Given the description of an element on the screen output the (x, y) to click on. 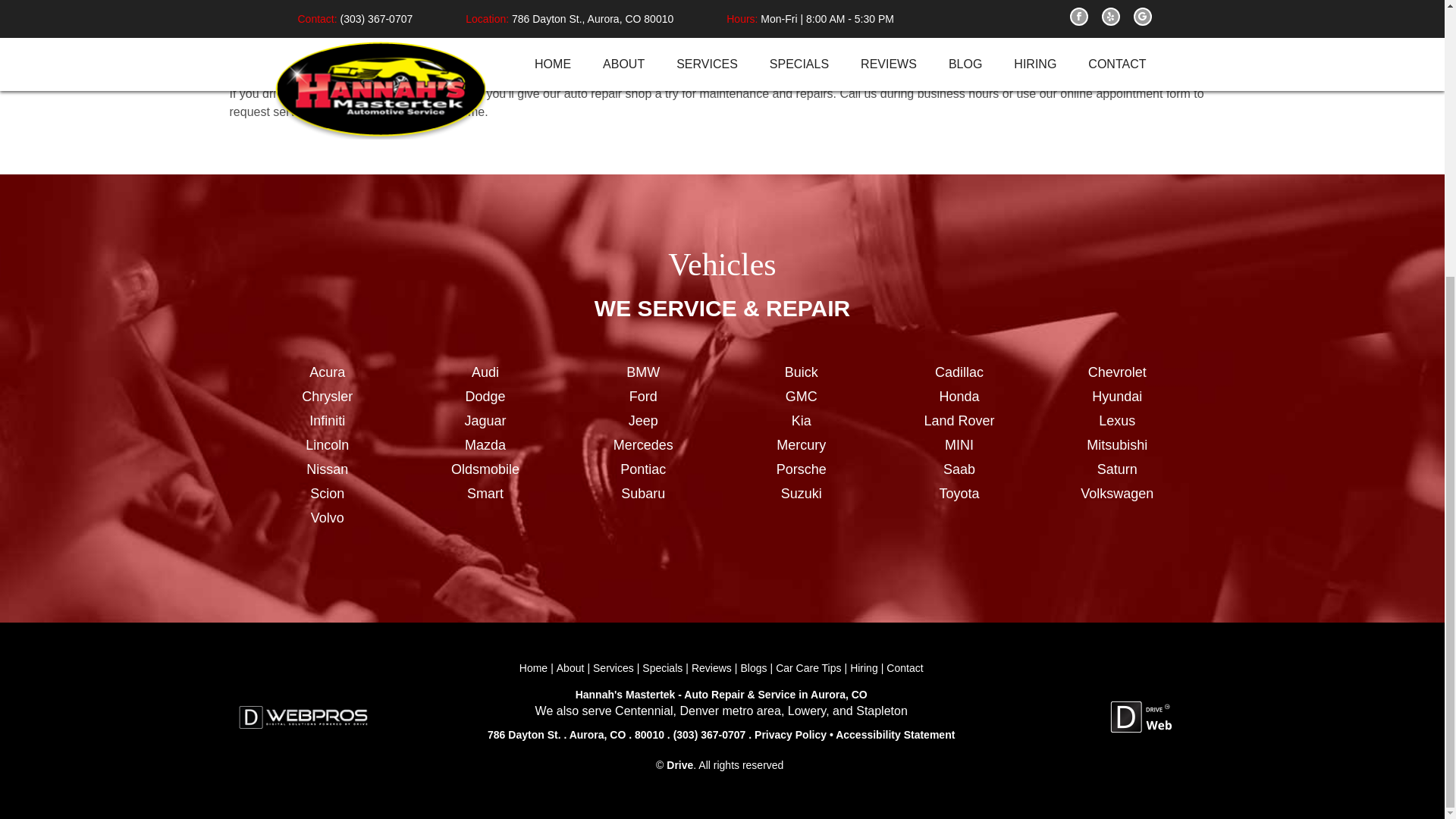
Chrysler (327, 396)
Acura (327, 372)
BMW (643, 372)
Audi (485, 372)
Hyundai (1116, 396)
Chevrolet (1116, 372)
Cadillac (959, 372)
Ford (643, 396)
Dodge (485, 396)
Buick (800, 372)
Infiniti (327, 421)
GMC (800, 396)
Honda (959, 396)
